Given the description of an element on the screen output the (x, y) to click on. 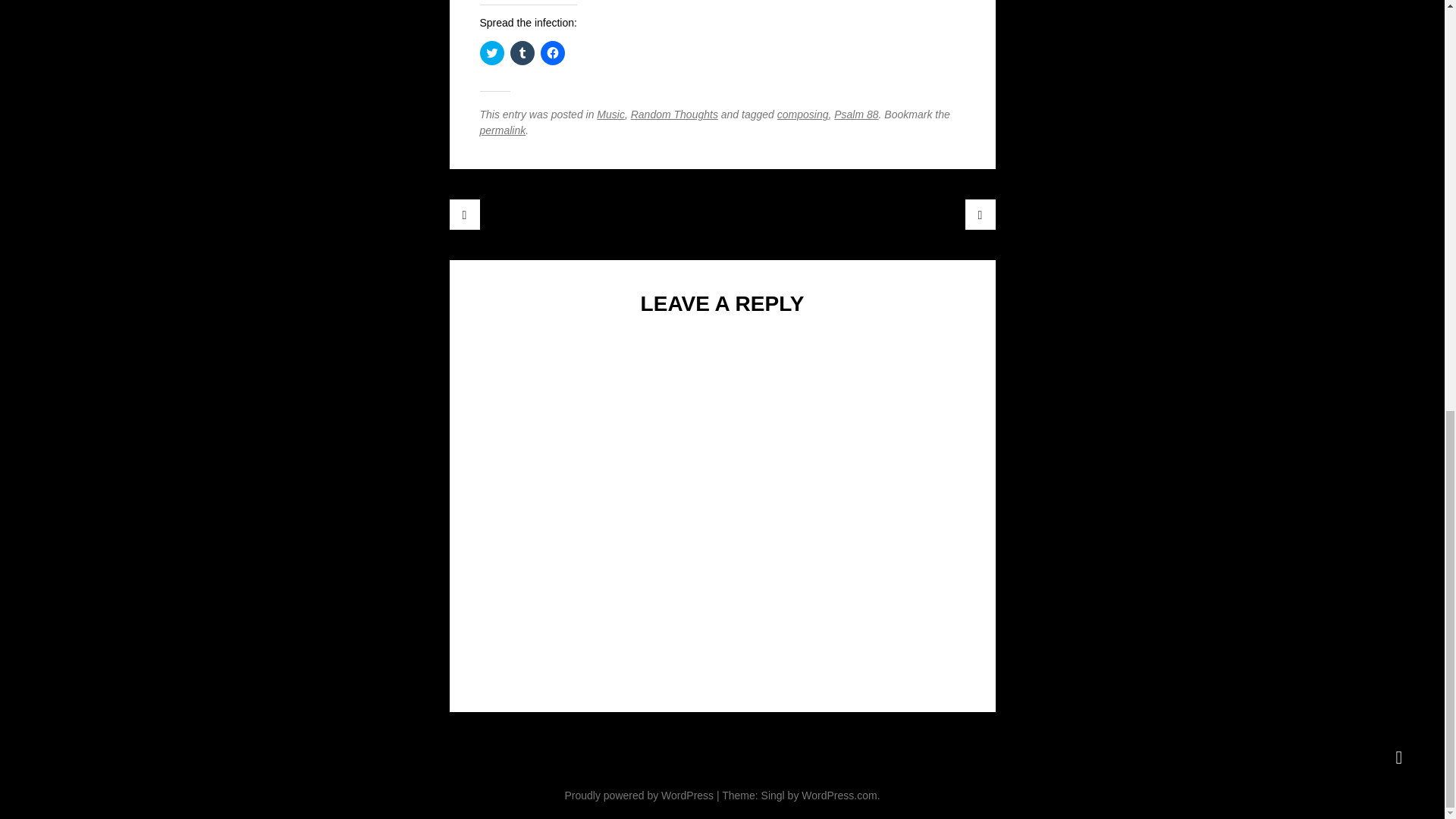
Music (610, 114)
permalink (502, 130)
Widgets (1398, 757)
Click to share on Twitter (491, 52)
Psalm 88 (855, 114)
composing (802, 114)
Click to share on Tumblr (521, 52)
Click to share on Facebook (552, 52)
Widgets (1398, 757)
Random Thoughts (673, 114)
